Given the description of an element on the screen output the (x, y) to click on. 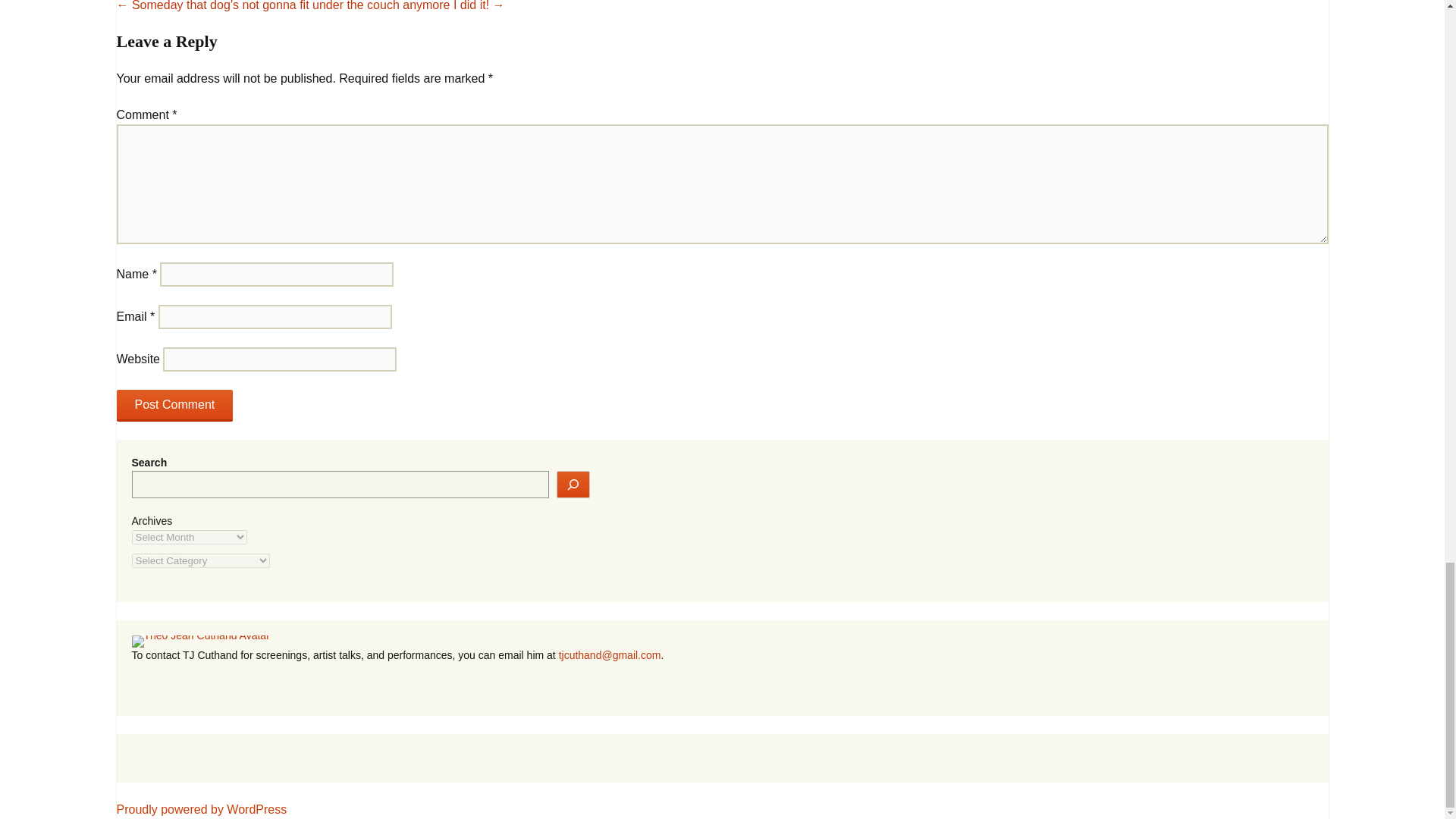
Proudly powered by WordPress (201, 809)
Post Comment (174, 405)
Post Comment (174, 405)
